Given the description of an element on the screen output the (x, y) to click on. 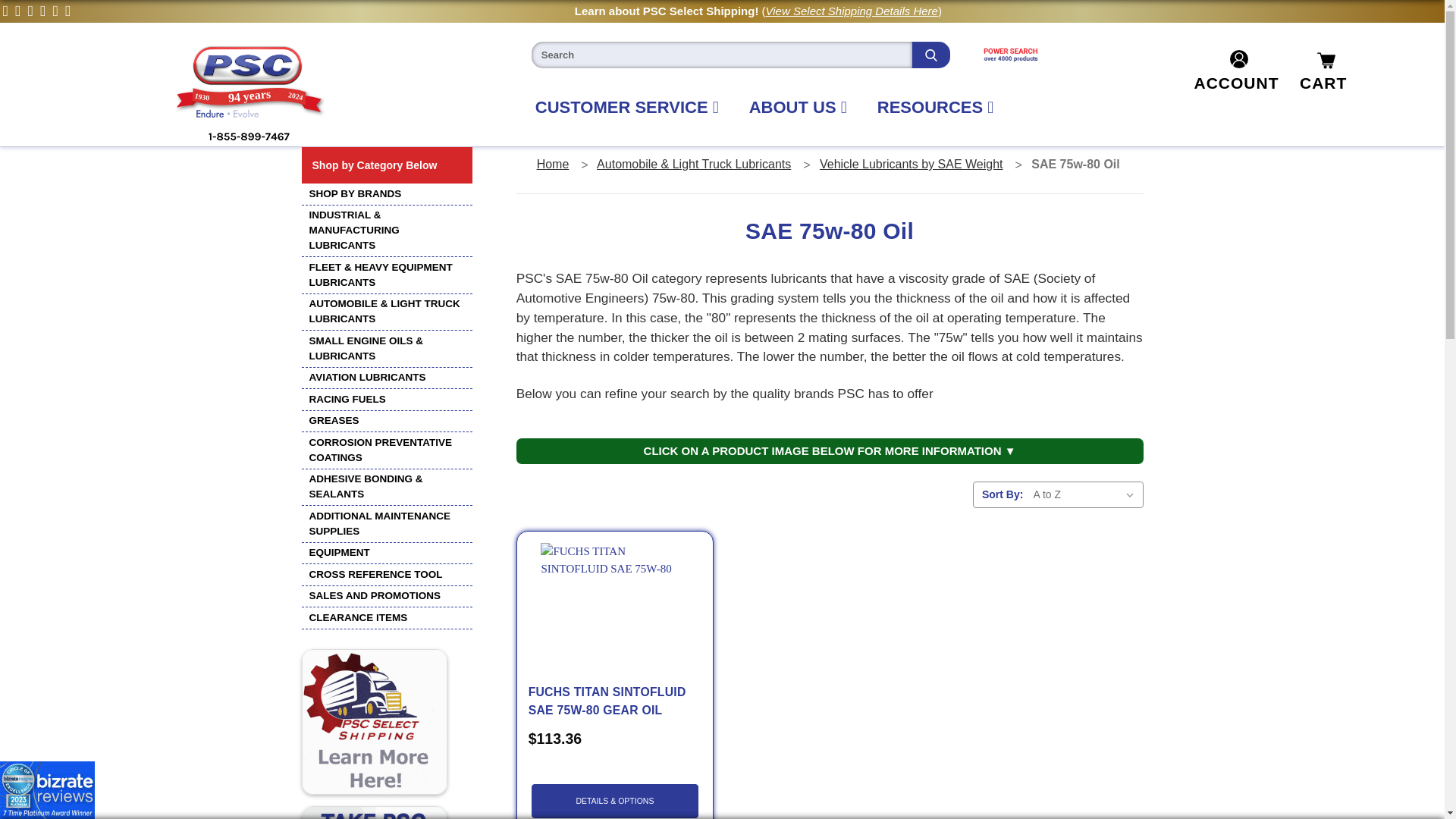
Search (931, 54)
CUSTOMER SERVICE (626, 106)
View Select Shipping Details Here (851, 10)
ACCOUNT (1233, 82)
RESOURCES (248, 94)
ABOUT US (935, 106)
FUCHS TITAN SINTOFLUID SAE 75W-80 (797, 106)
login (614, 594)
CART (1233, 82)
